Given the description of an element on the screen output the (x, y) to click on. 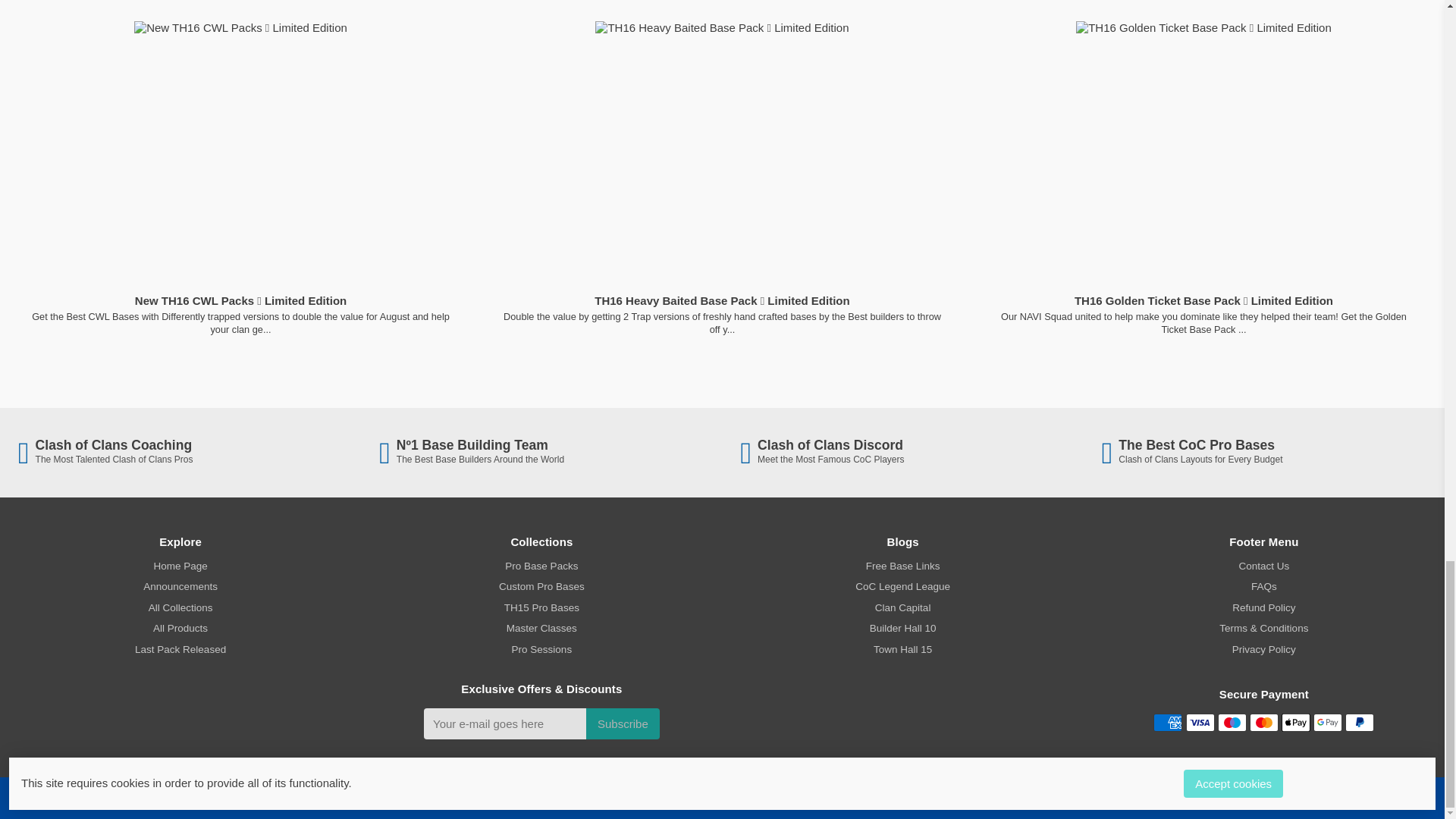
Apple Pay (1295, 722)
American Express (1167, 722)
PayPal (1359, 722)
Visa (1200, 722)
Google Pay (1327, 722)
Mastercard (1263, 722)
Maestro (1231, 722)
